Given the description of an element on the screen output the (x, y) to click on. 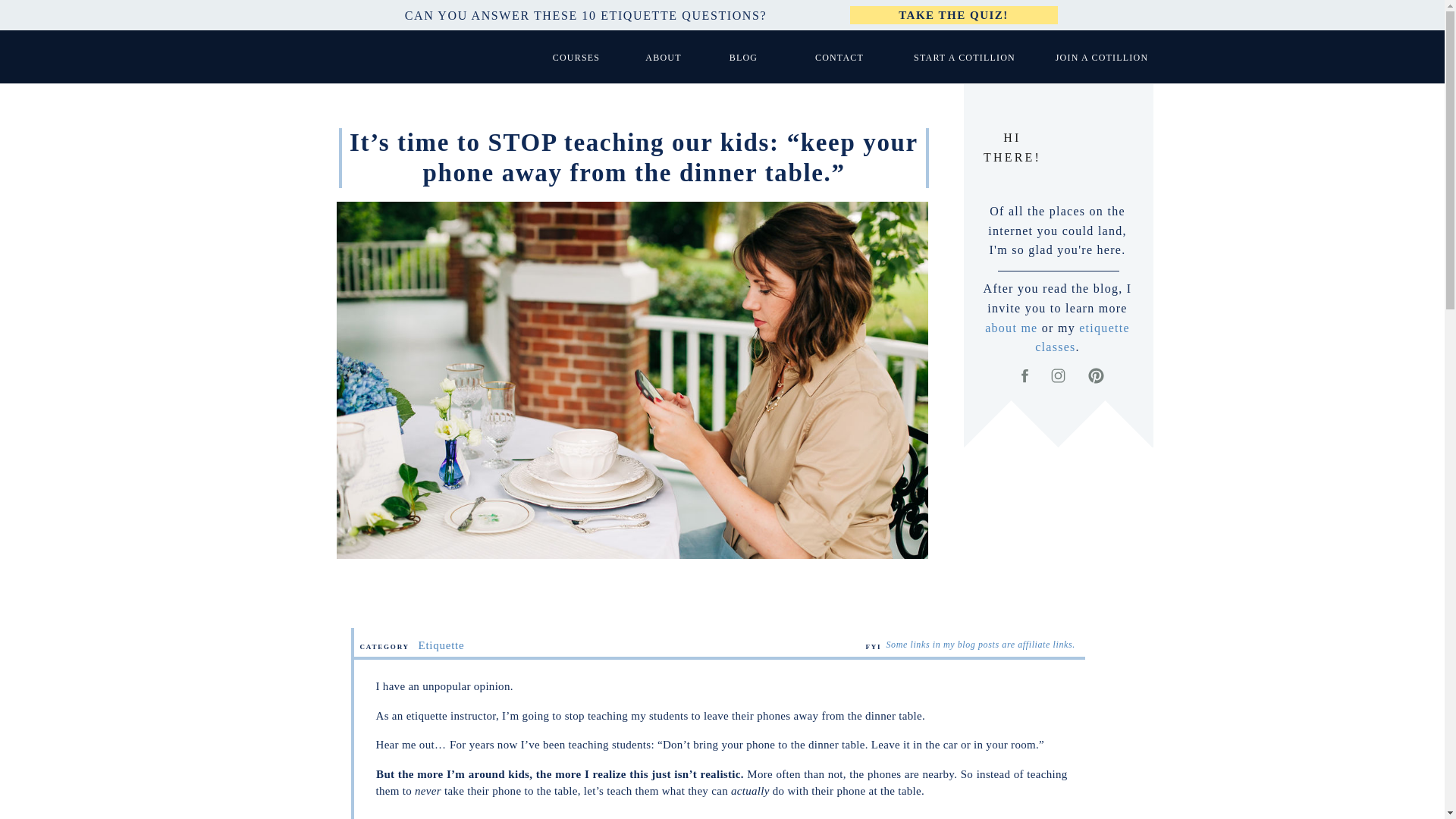
CONTACT (839, 56)
CAN YOU ANSWER THESE 10 ETIQUETTE QUESTIONS? (585, 15)
START A COTILLION (965, 56)
etiquette classes (1082, 337)
COURSES (575, 56)
BLOG (742, 56)
JOIN A COTILLION (1101, 56)
about me (1010, 327)
ABOUT (663, 56)
Etiquette (441, 645)
